Given the description of an element on the screen output the (x, y) to click on. 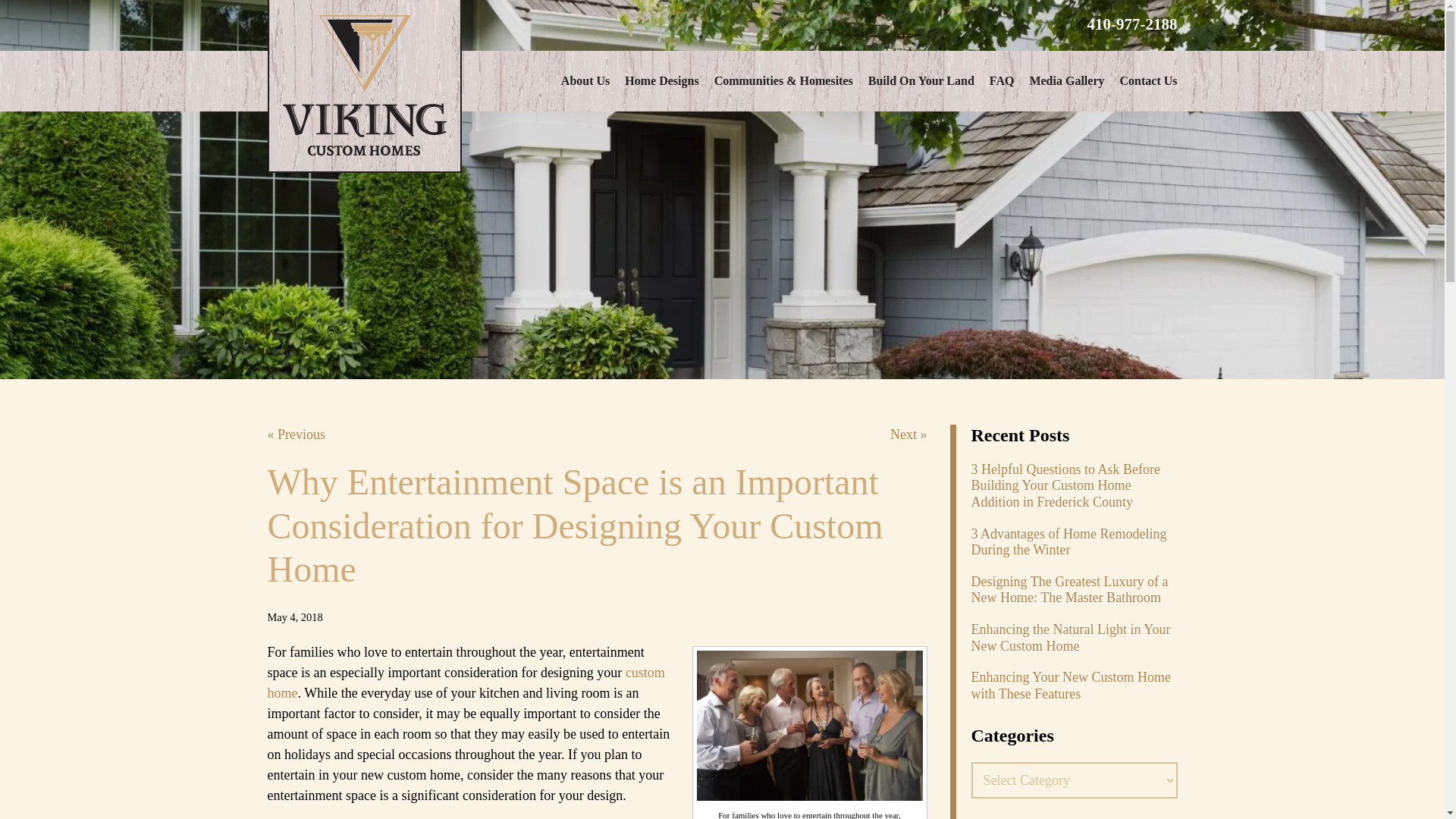
Build On Your Land (920, 80)
Viking Custom Homes (363, 85)
Media Gallery (1067, 80)
410-977-2188 (1122, 24)
Contact Us (1148, 80)
custom home (464, 683)
About Us (585, 80)
Home Designs (661, 80)
